Given the description of an element on the screen output the (x, y) to click on. 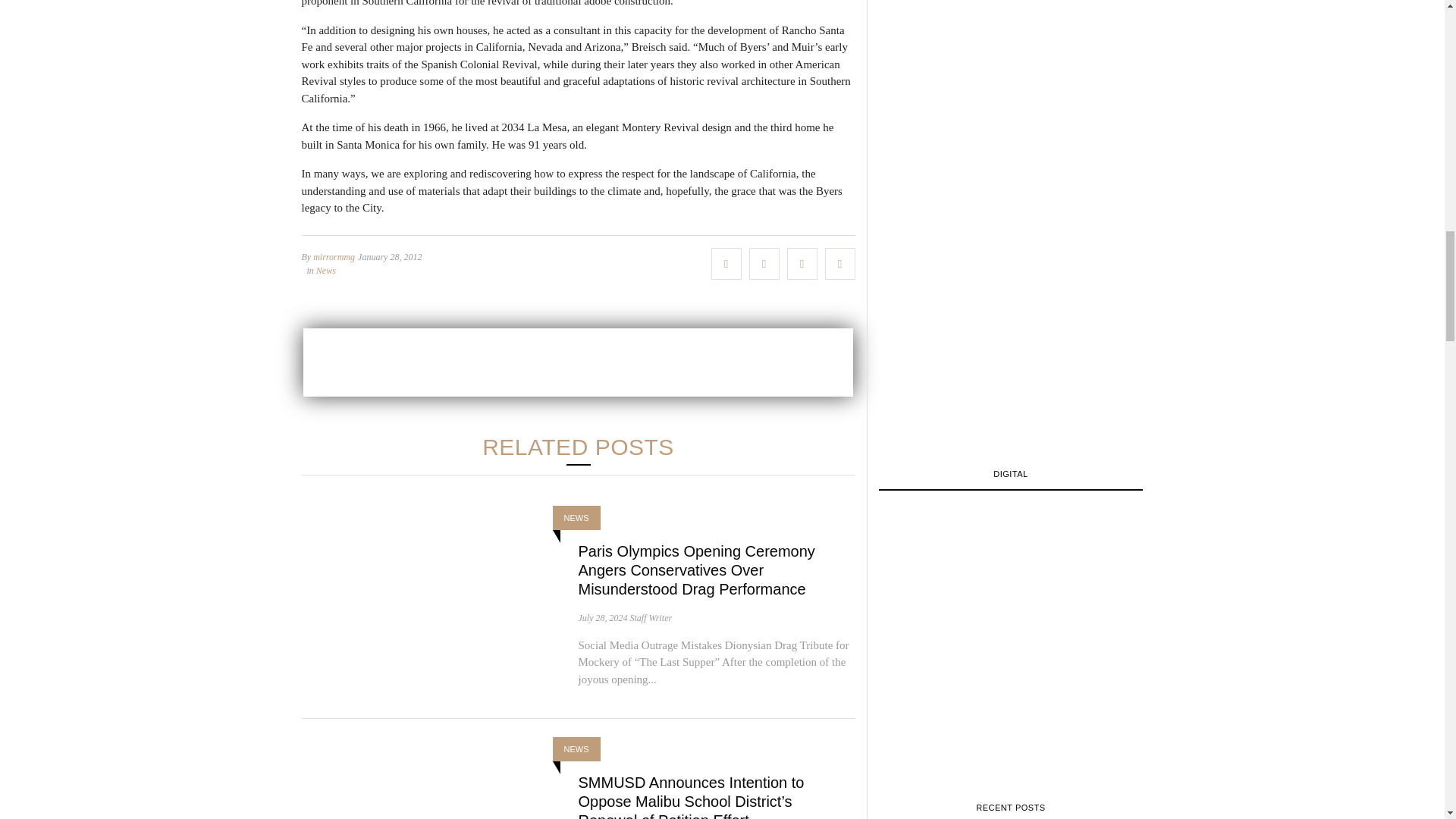
News (325, 270)
Posts by Staff Writer (649, 617)
3rd party ad content (577, 361)
Posts by mirrormmg (334, 256)
mirrormmg (334, 256)
